Given the description of an element on the screen output the (x, y) to click on. 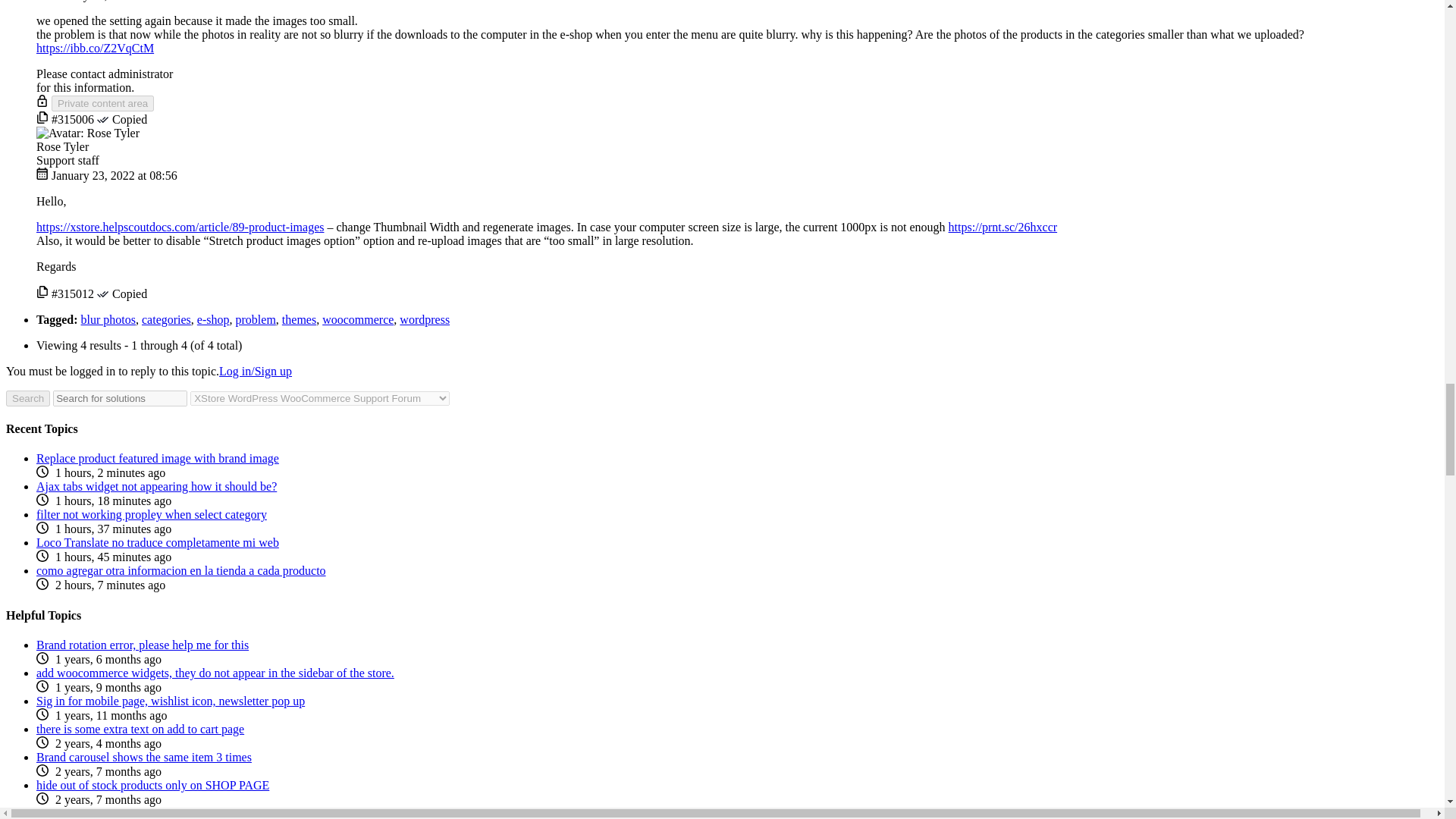
Private content area (102, 103)
Copy to clipboard (42, 119)
Copy to clipboard (42, 293)
Search (27, 398)
